Given the description of an element on the screen output the (x, y) to click on. 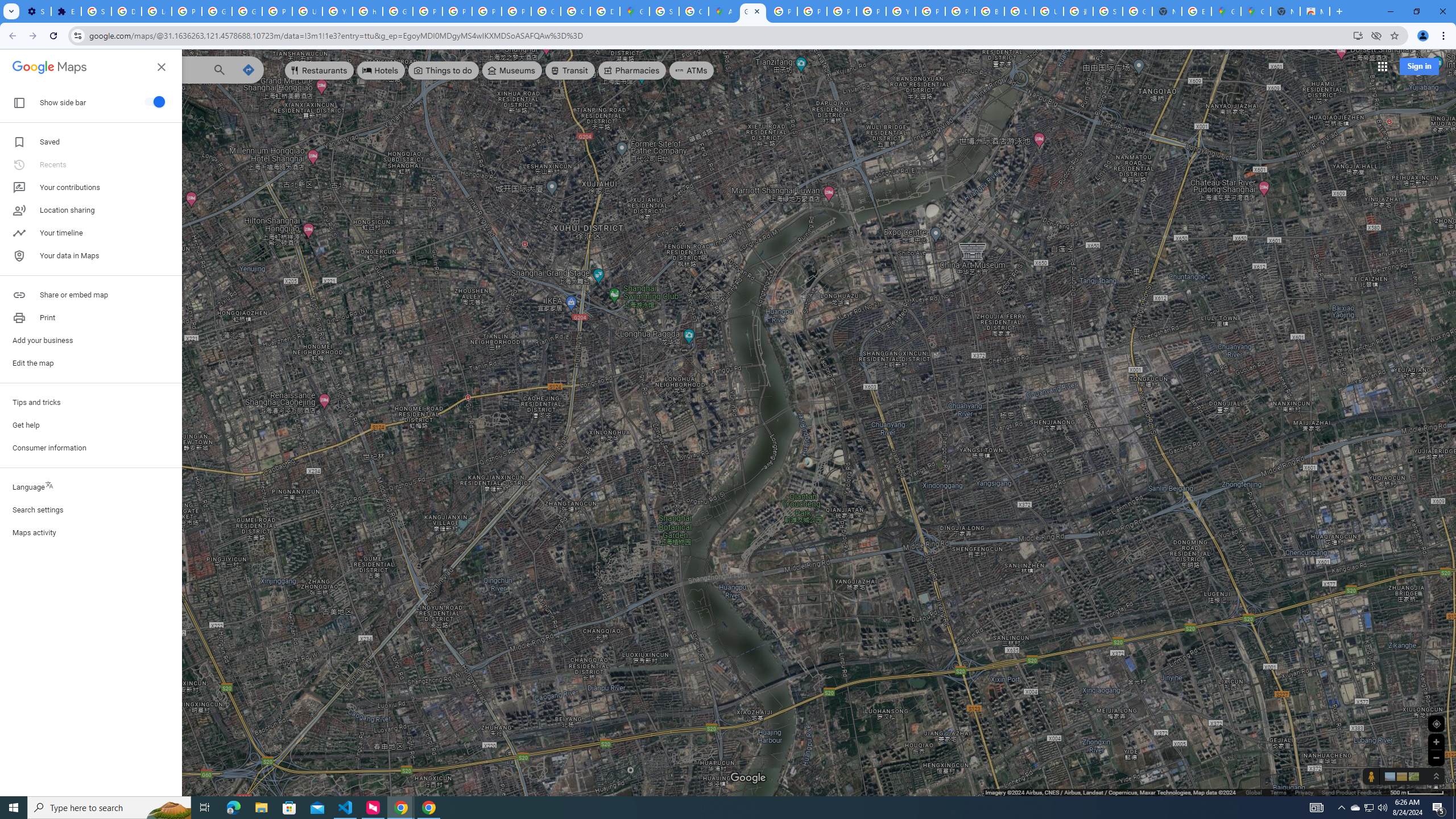
Zoom in (1436, 741)
Pharmacies (632, 70)
Consumer information (90, 448)
Maps activity (90, 532)
Privacy Help Center - Policies Help (426, 11)
Create your Google Account (693, 11)
Directions (247, 69)
Google Maps (634, 11)
YouTube (337, 11)
Show imagery (1412, 776)
Show side bar (153, 101)
